Given the description of an element on the screen output the (x, y) to click on. 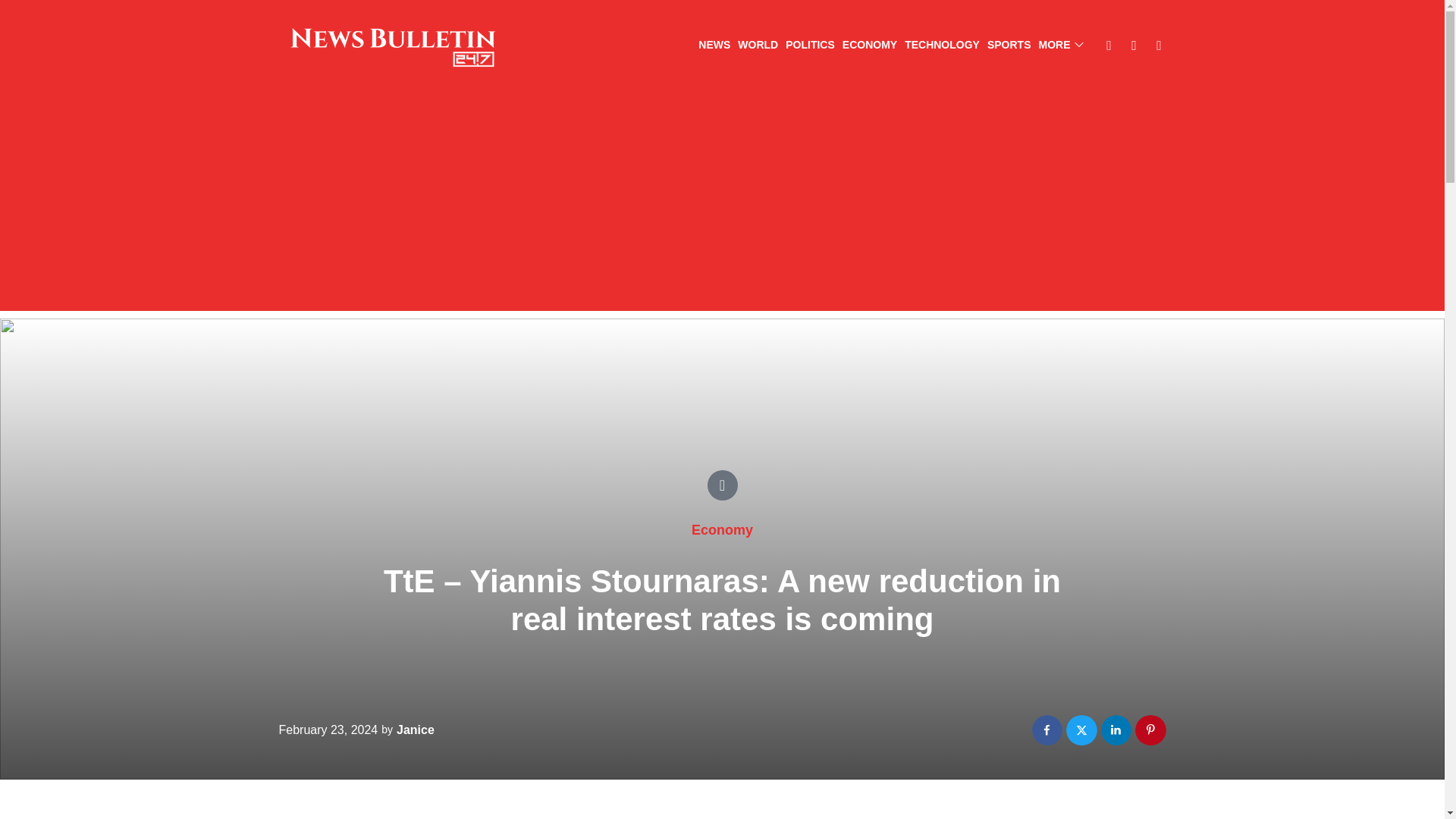
ECONOMY (869, 45)
POLITICS (810, 45)
NEWS (714, 45)
SPORTS (1008, 45)
WORLD (757, 45)
Economy (721, 529)
TECHNOLOGY (941, 45)
MORE (1061, 45)
